Given the description of an element on the screen output the (x, y) to click on. 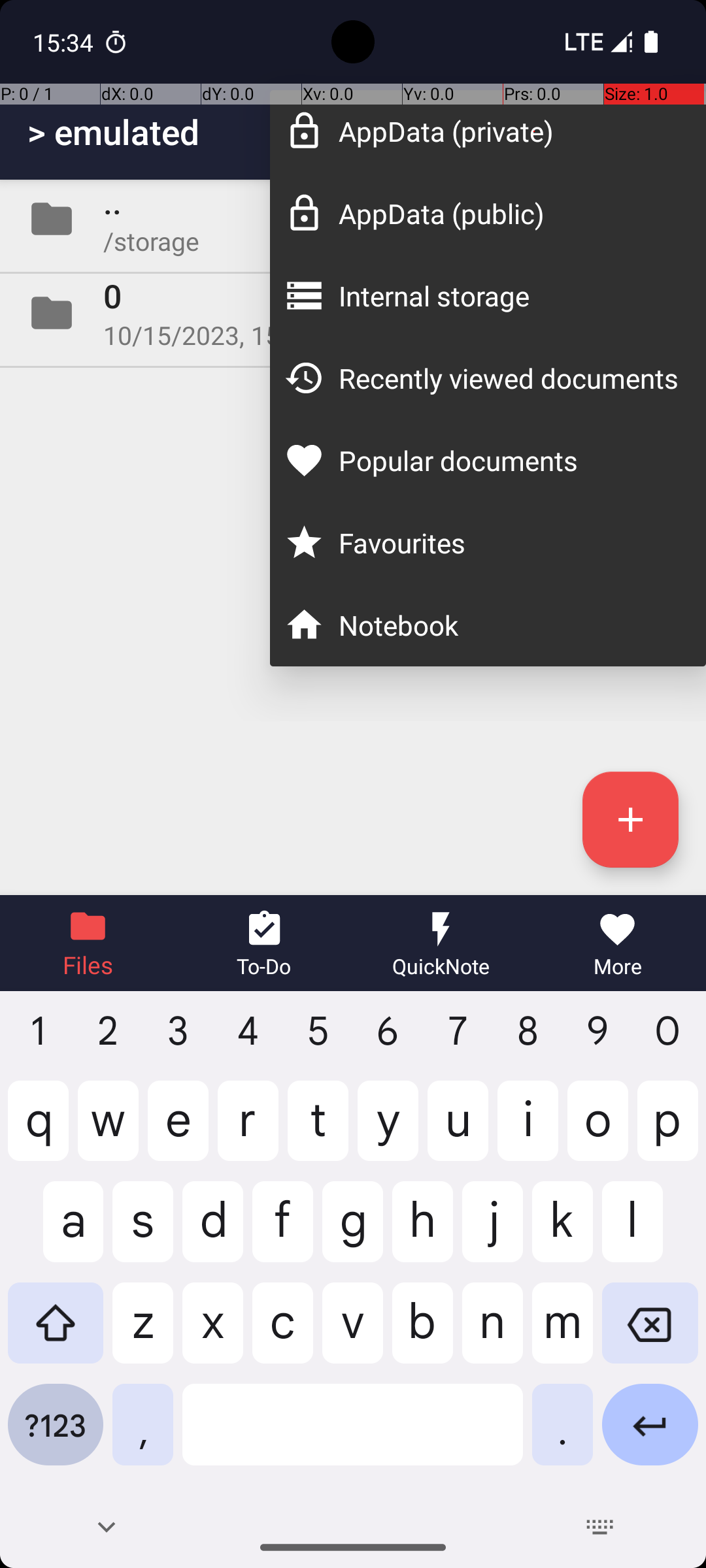
AppData (private) Element type: android.widget.TextView (508, 130)
AppData (public) Element type: android.widget.TextView (508, 212)
Internal storage Element type: android.widget.TextView (508, 295)
Recently viewed documents Element type: android.widget.TextView (508, 377)
Popular documents Element type: android.widget.TextView (508, 459)
Favourites Element type: android.widget.TextView (508, 542)
Notebook Element type: android.widget.TextView (508, 624)
